Given the description of an element on the screen output the (x, y) to click on. 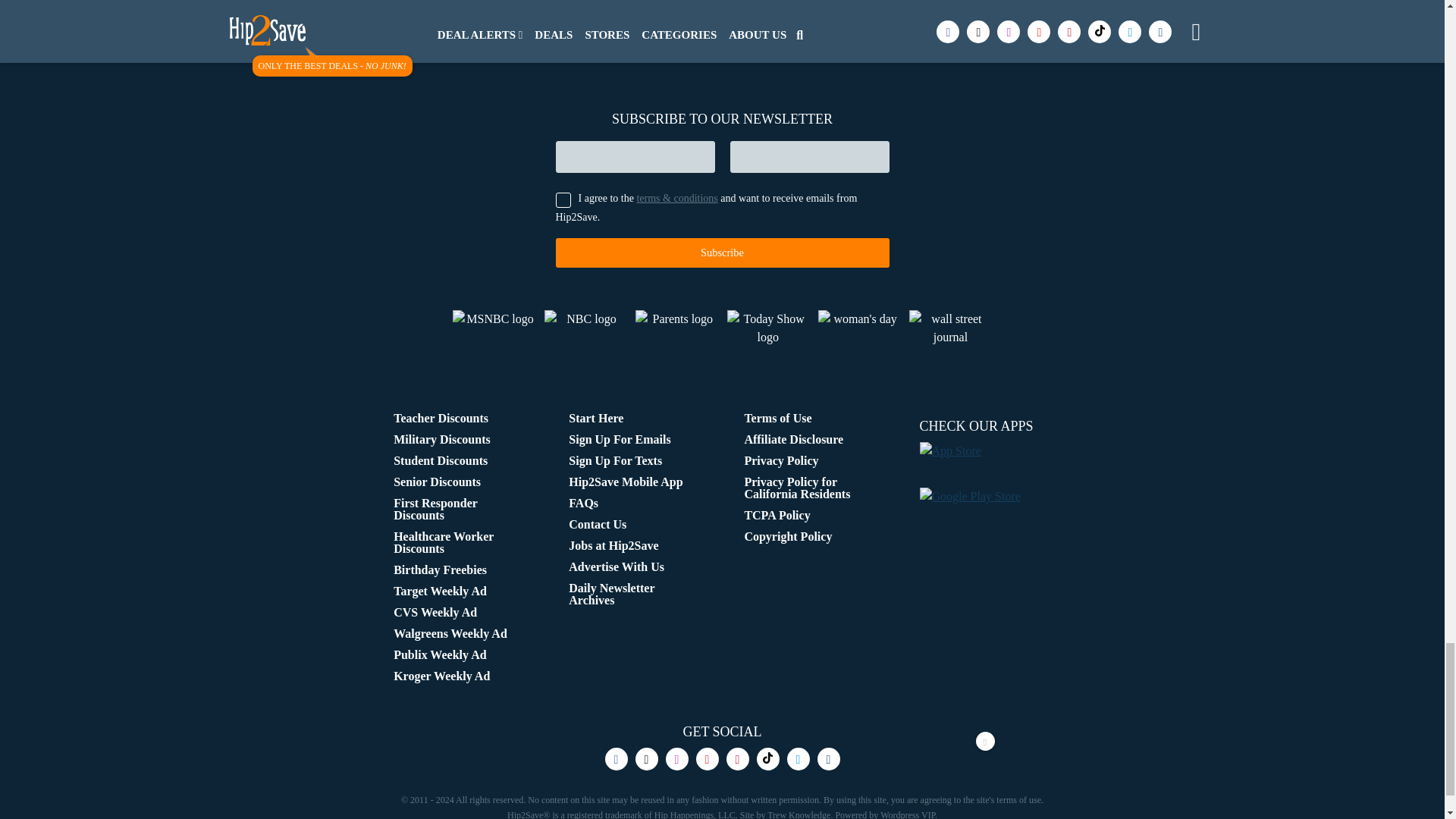
Subscribe (721, 252)
